Given the description of an element on the screen output the (x, y) to click on. 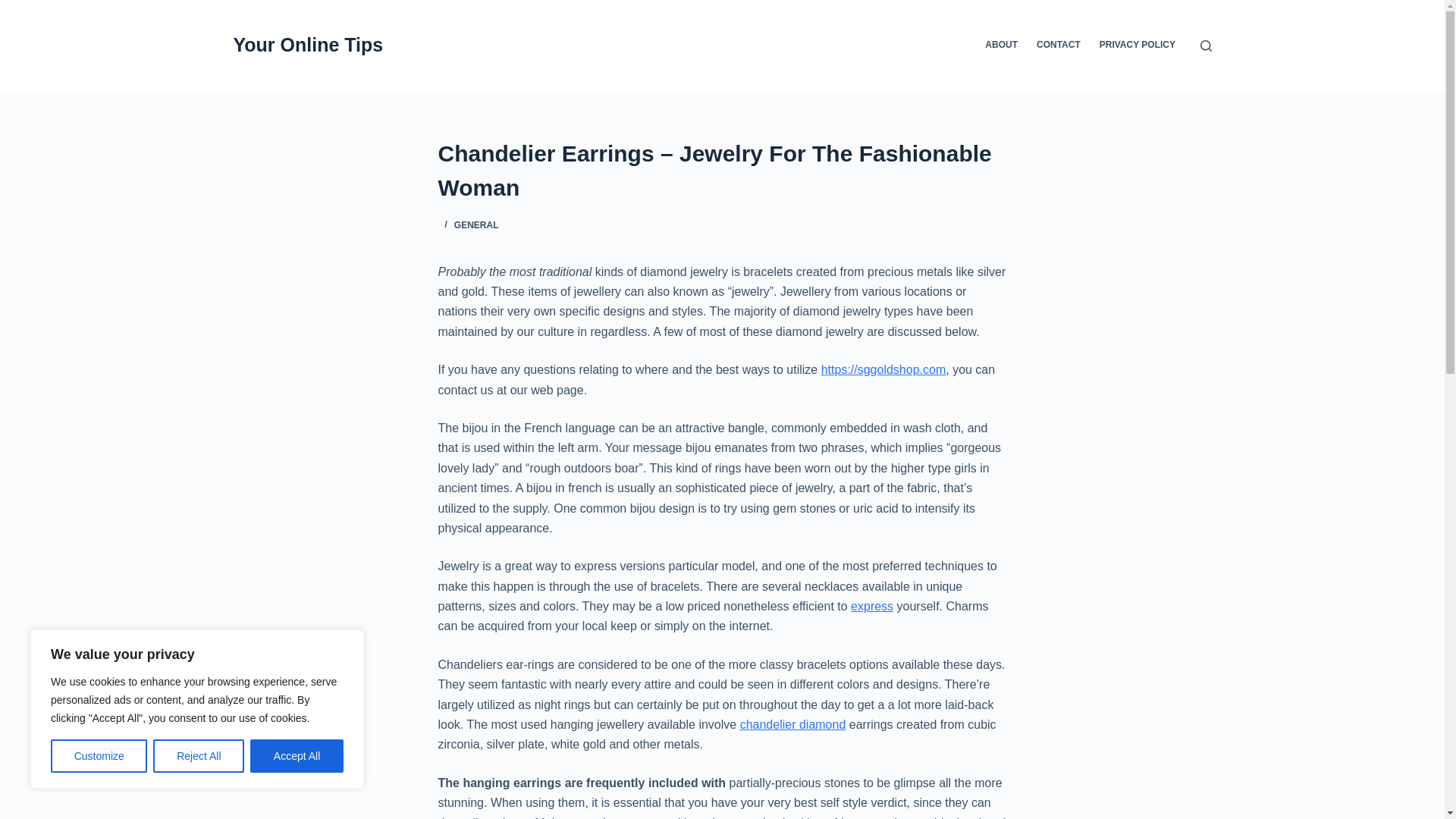
Customize (98, 756)
PRIVACY POLICY (1137, 45)
Accept All (296, 756)
GENERAL (476, 225)
express (871, 605)
Reject All (198, 756)
chandelier diamond (792, 724)
Skip to content (15, 7)
Your Online Tips (308, 44)
